Given the description of an element on the screen output the (x, y) to click on. 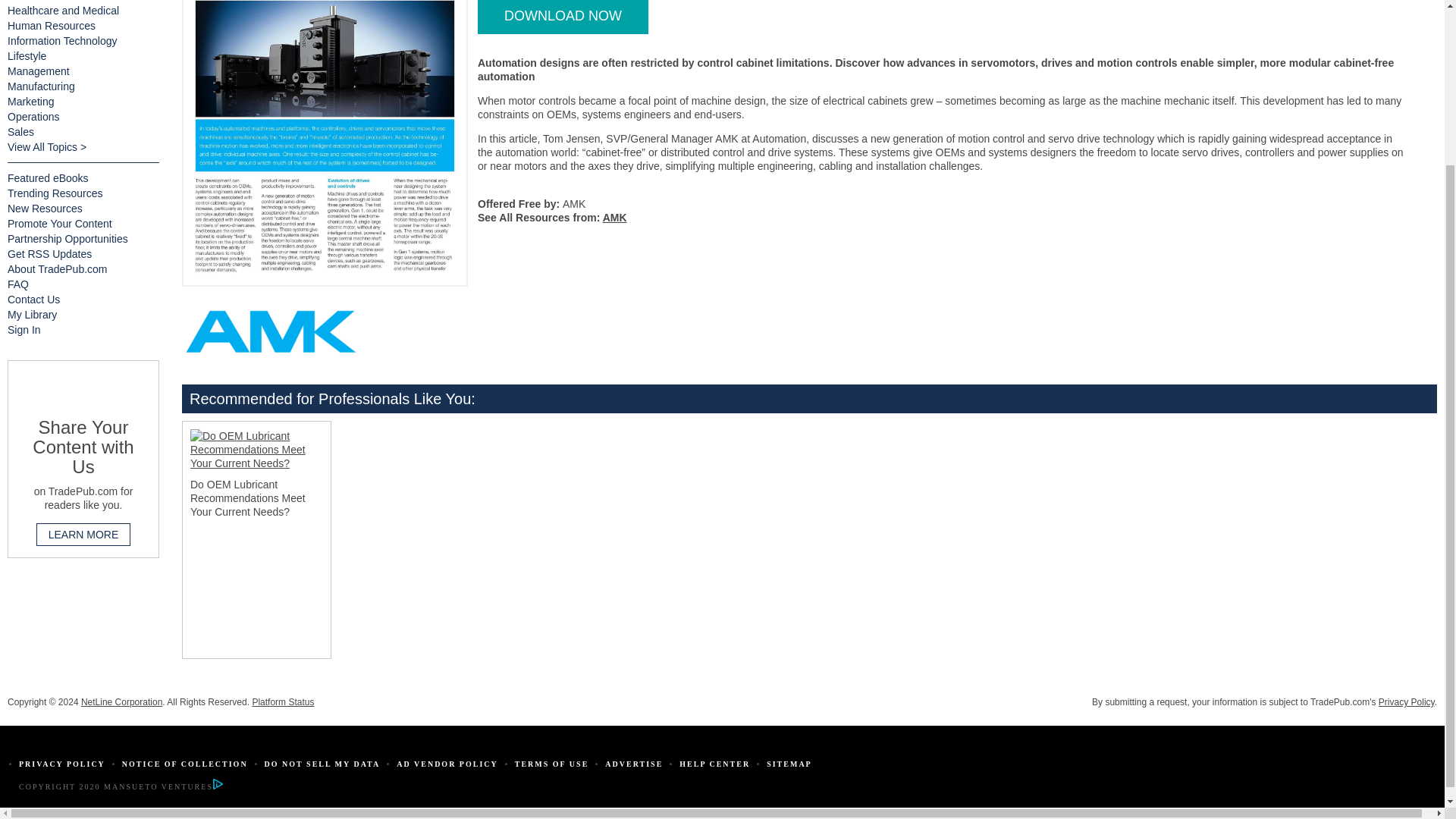
Get more information about do not sell my data on Inc.com (322, 764)
Get more information about Advertise on Inc.com (633, 764)
Get more information about Ad vendor policy on Inc.com (446, 764)
Read more about your Ad Choices (217, 786)
Get more information about terms of use on Inc.com (552, 764)
Get more information about help Center on Inc.com (714, 764)
Get more information about Notice of collection on Inc.com (184, 764)
Get more information about sitemap on Inc.com (789, 764)
Get more information about Privacy policy on Inc.com (61, 764)
